Given the description of an element on the screen output the (x, y) to click on. 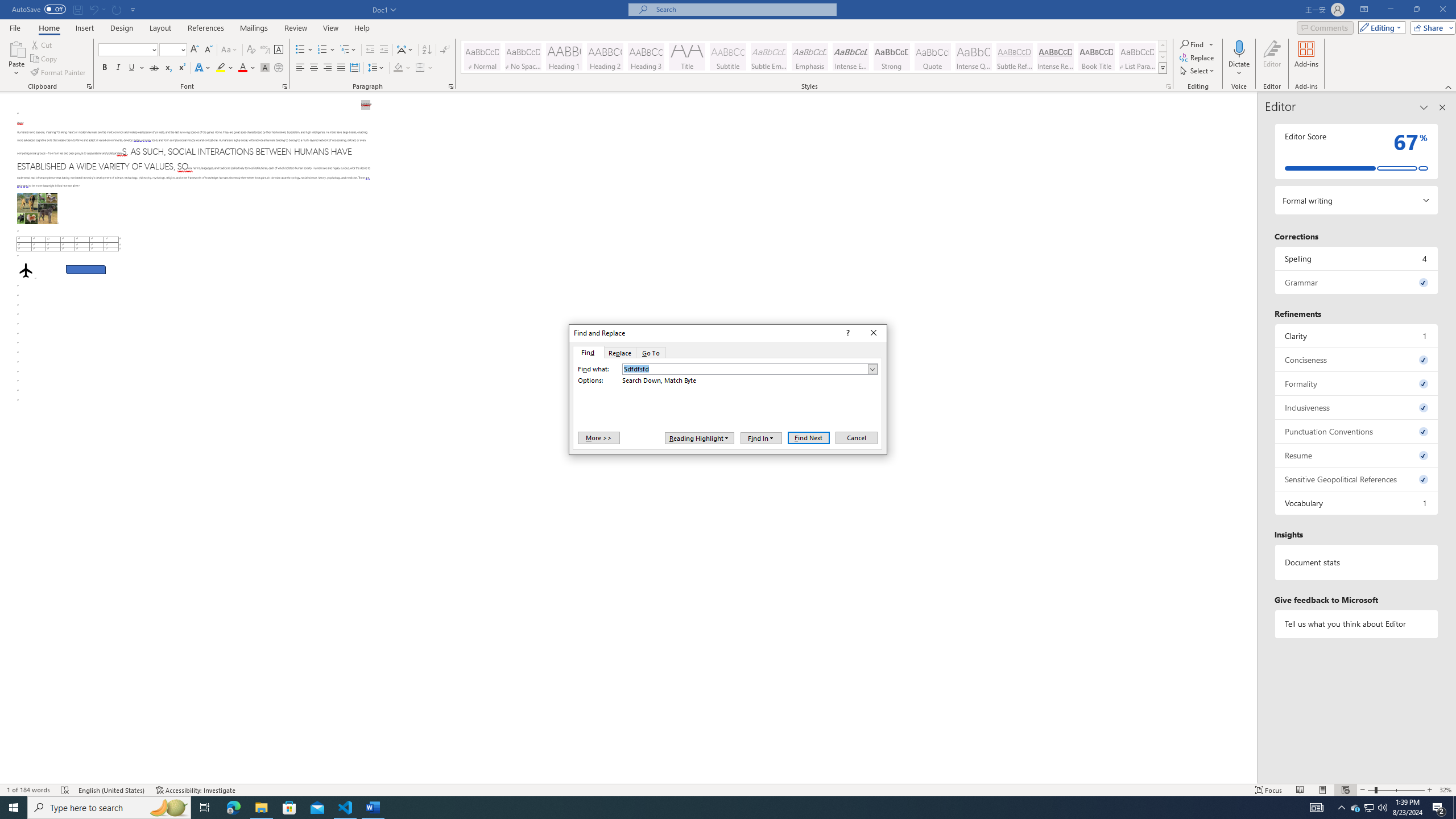
Replace... (1197, 56)
Reading Highlight (699, 437)
Task View (204, 807)
Intense Quote (973, 56)
Repeat Paragraph Alignment (117, 9)
RichEdit Control (745, 369)
Conciseness, 0 issues. Press space or enter to review items. (1356, 359)
